Given the description of an element on the screen output the (x, y) to click on. 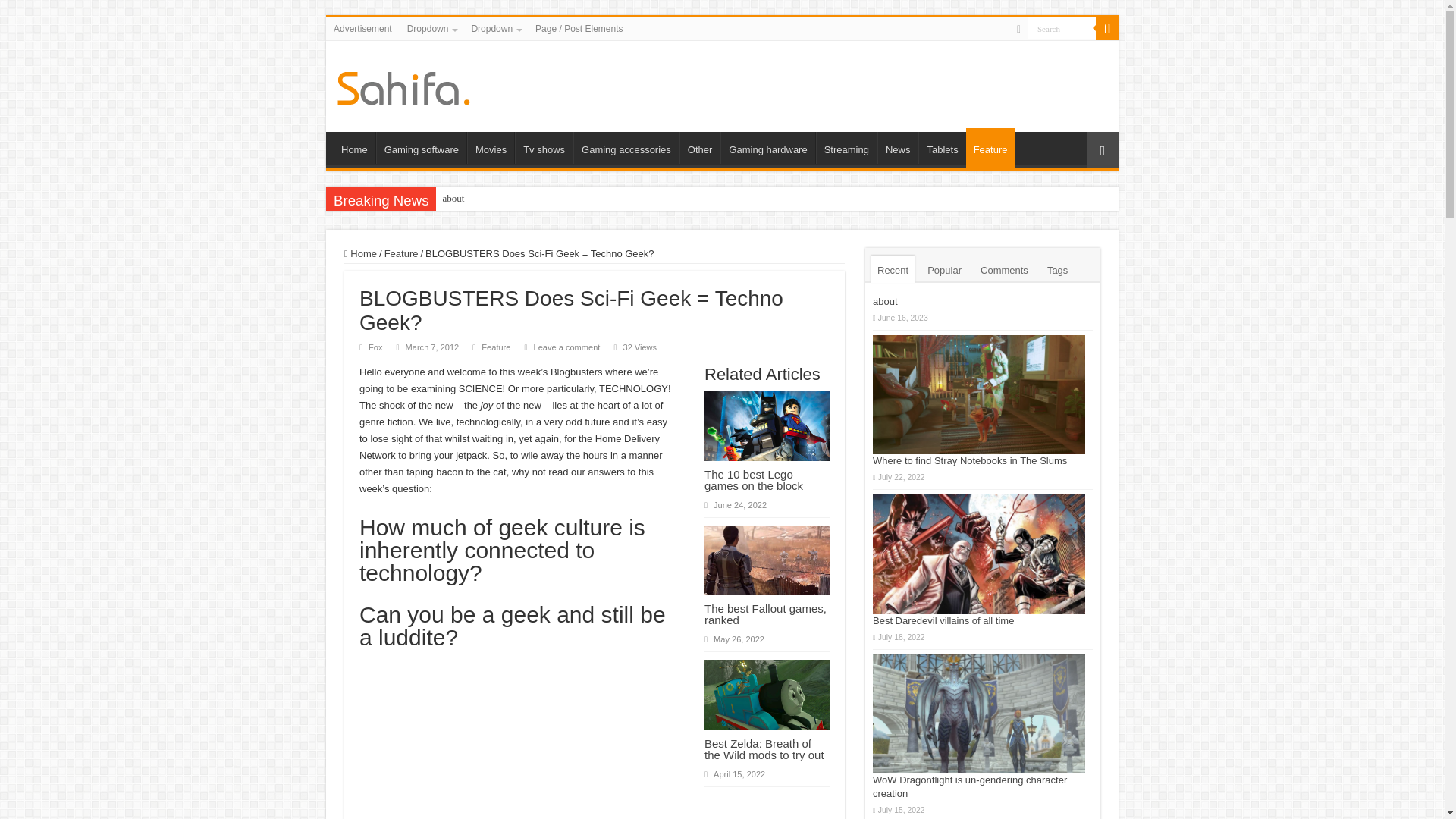
Movies (490, 147)
Streaming (845, 147)
Gaming hardware (766, 147)
Advertisement (362, 28)
Gaming accessories (625, 147)
Other (699, 147)
Search (1107, 28)
Search (1061, 28)
Home (354, 147)
Dropdown (431, 28)
